Given the description of an element on the screen output the (x, y) to click on. 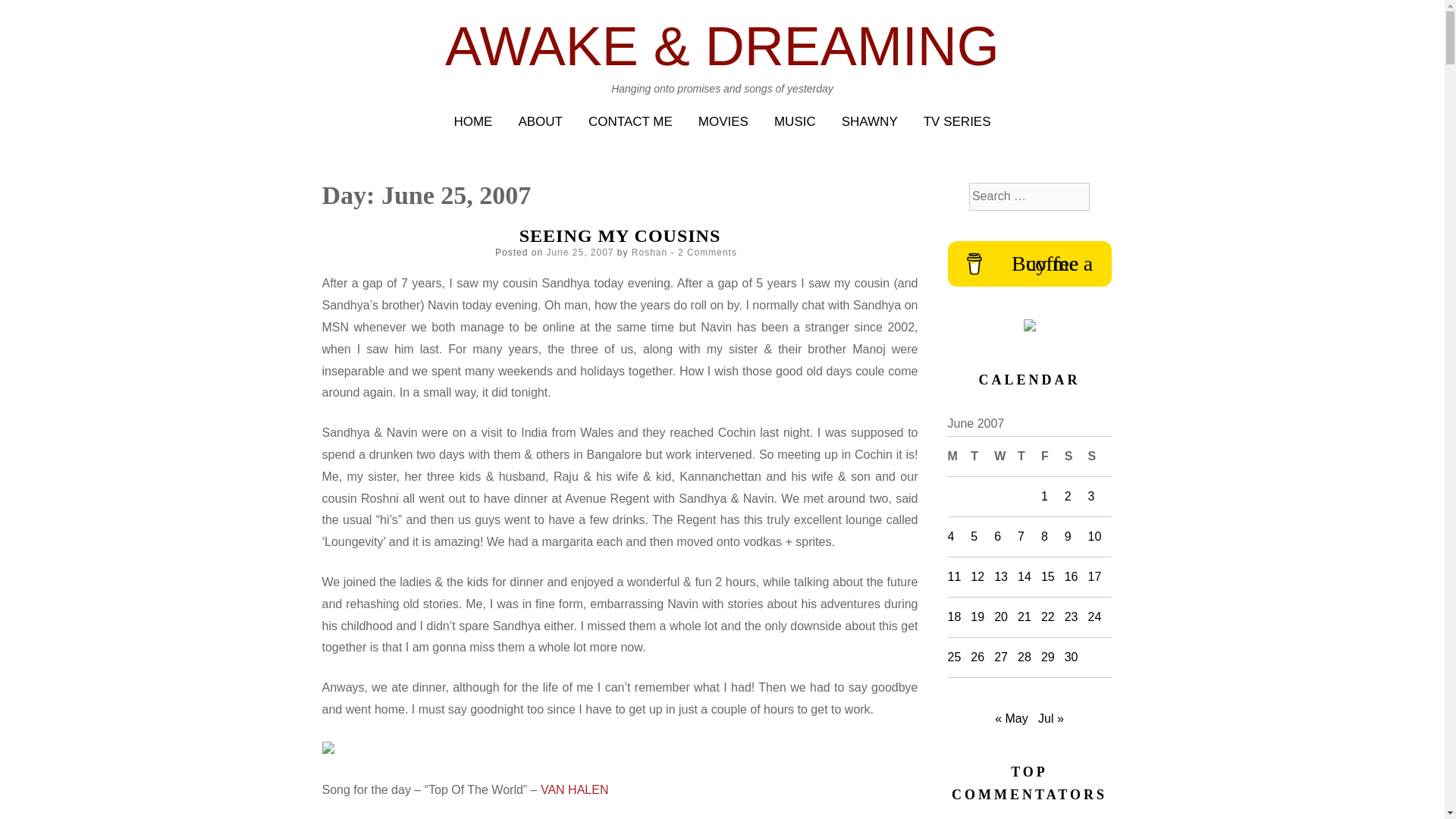
TV SERIES (957, 121)
SHAWNY (869, 121)
Roshan (648, 252)
CONTACT ME (630, 121)
MUSIC (794, 121)
2 Comments (707, 252)
June 25, 2007 (579, 252)
SEEING MY COUSINS (619, 235)
MOVIES (723, 121)
